Given the description of an element on the screen output the (x, y) to click on. 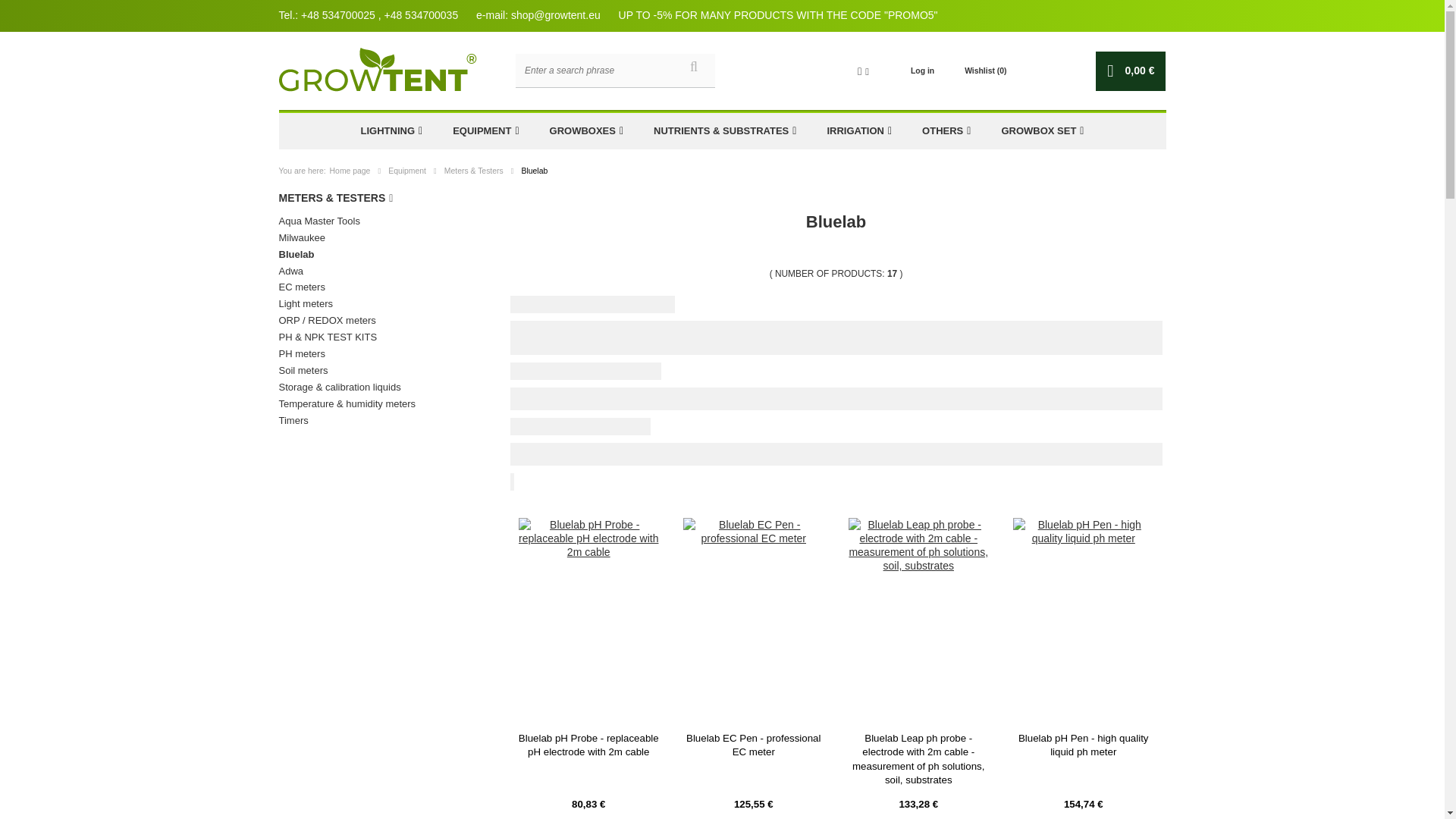
Others (946, 131)
Bluelab pH Probe - replaceable pH electrode with 2m cable (588, 746)
Wishlist 0 (984, 71)
Equipment (486, 131)
Bluelab EC Pen - professional EC meter (753, 746)
LIGHTNING (392, 131)
Lightning (392, 131)
GROWBOX SET (1042, 131)
Growboxes (586, 131)
